Given the description of an element on the screen output the (x, y) to click on. 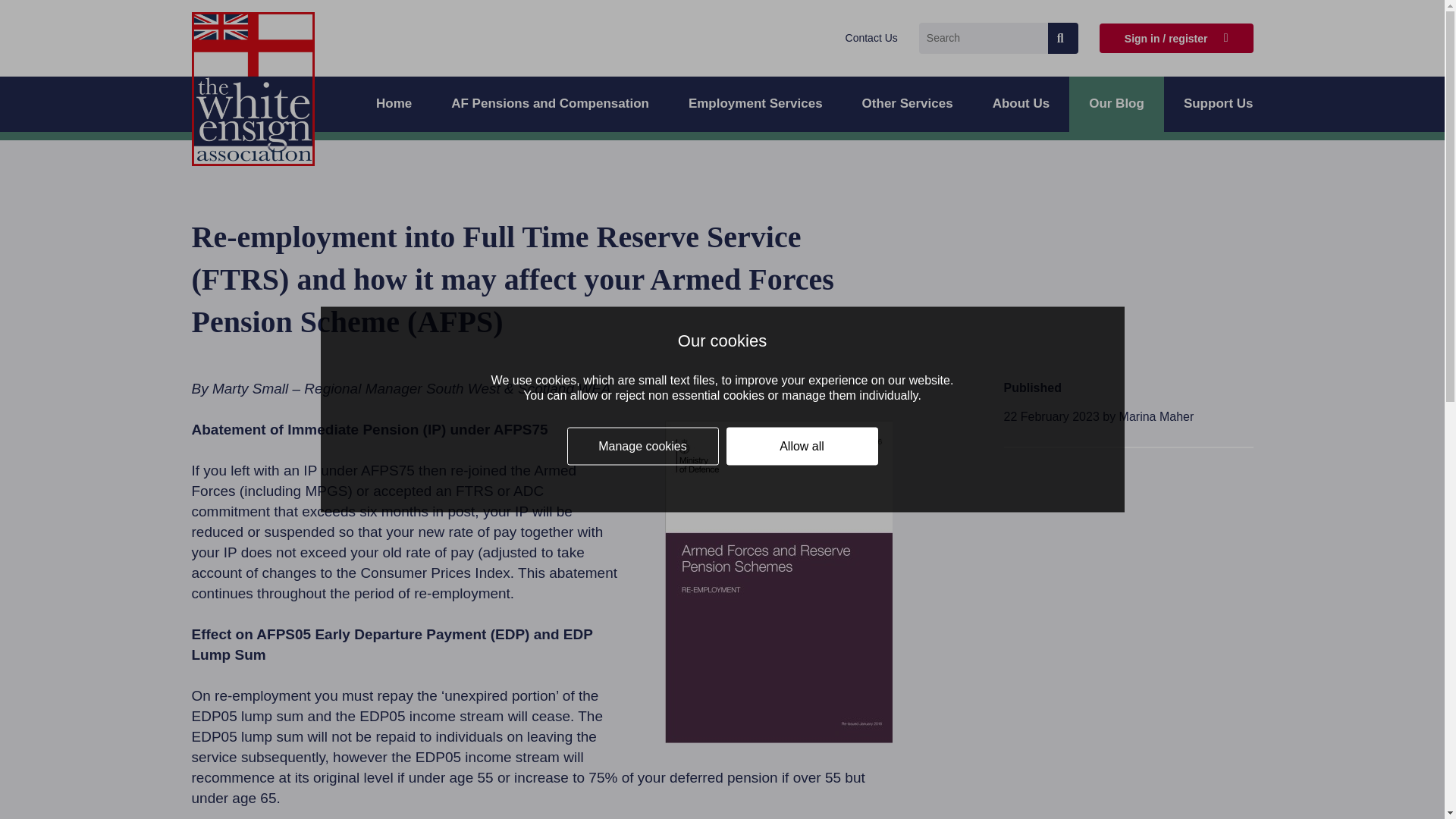
Manage cookies (643, 446)
Our Blog (1115, 103)
Other Services (907, 103)
Support Us (1217, 103)
Allow all (801, 446)
Home (393, 103)
AF Pensions and Compensation (549, 103)
Employment Services (755, 103)
About Us (1021, 103)
Contact Us (871, 37)
